Given the description of an element on the screen output the (x, y) to click on. 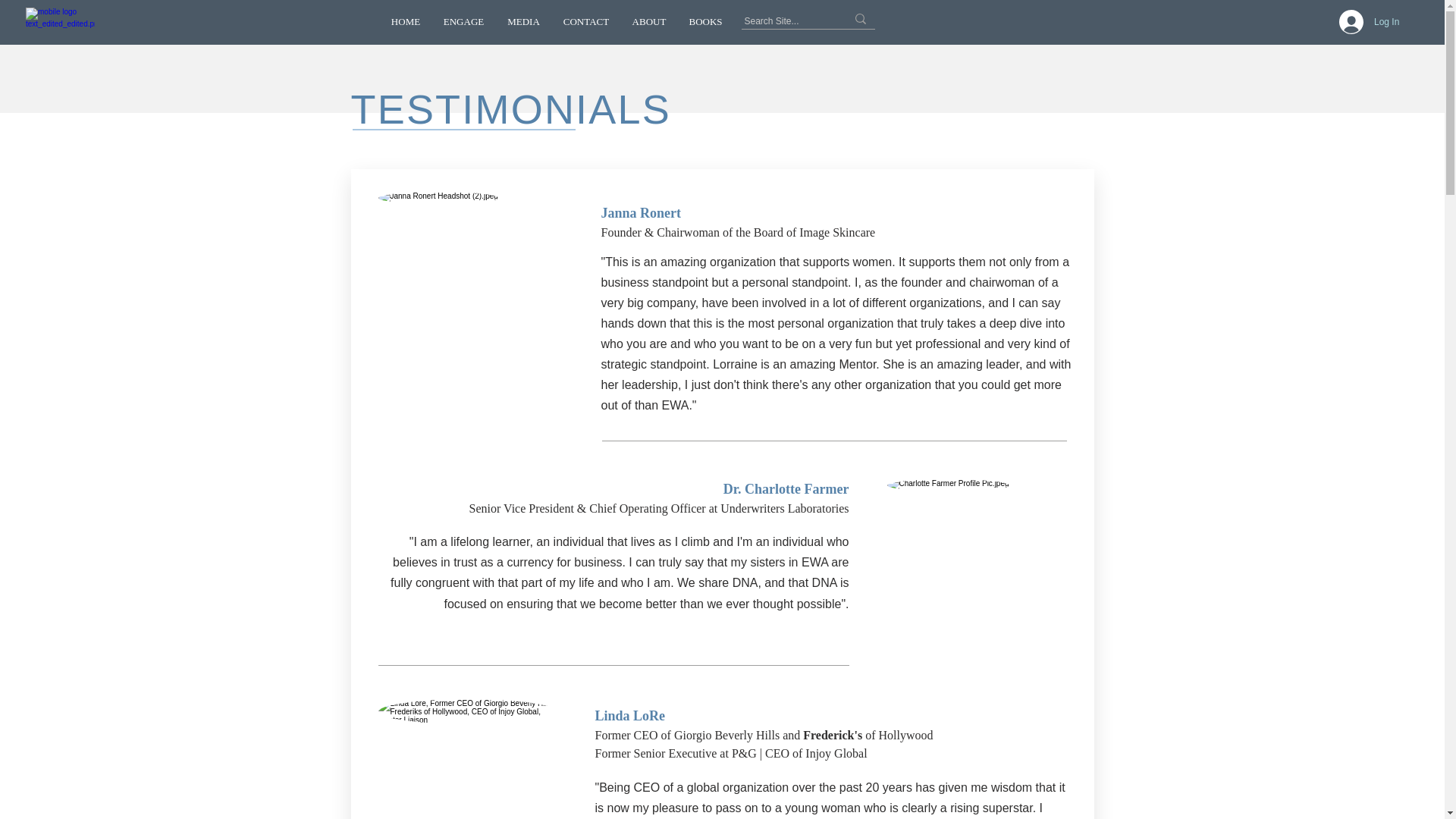
HOME (404, 21)
Log In (1365, 21)
BOOKS (705, 21)
CONTACT (586, 21)
